Given the description of an element on the screen output the (x, y) to click on. 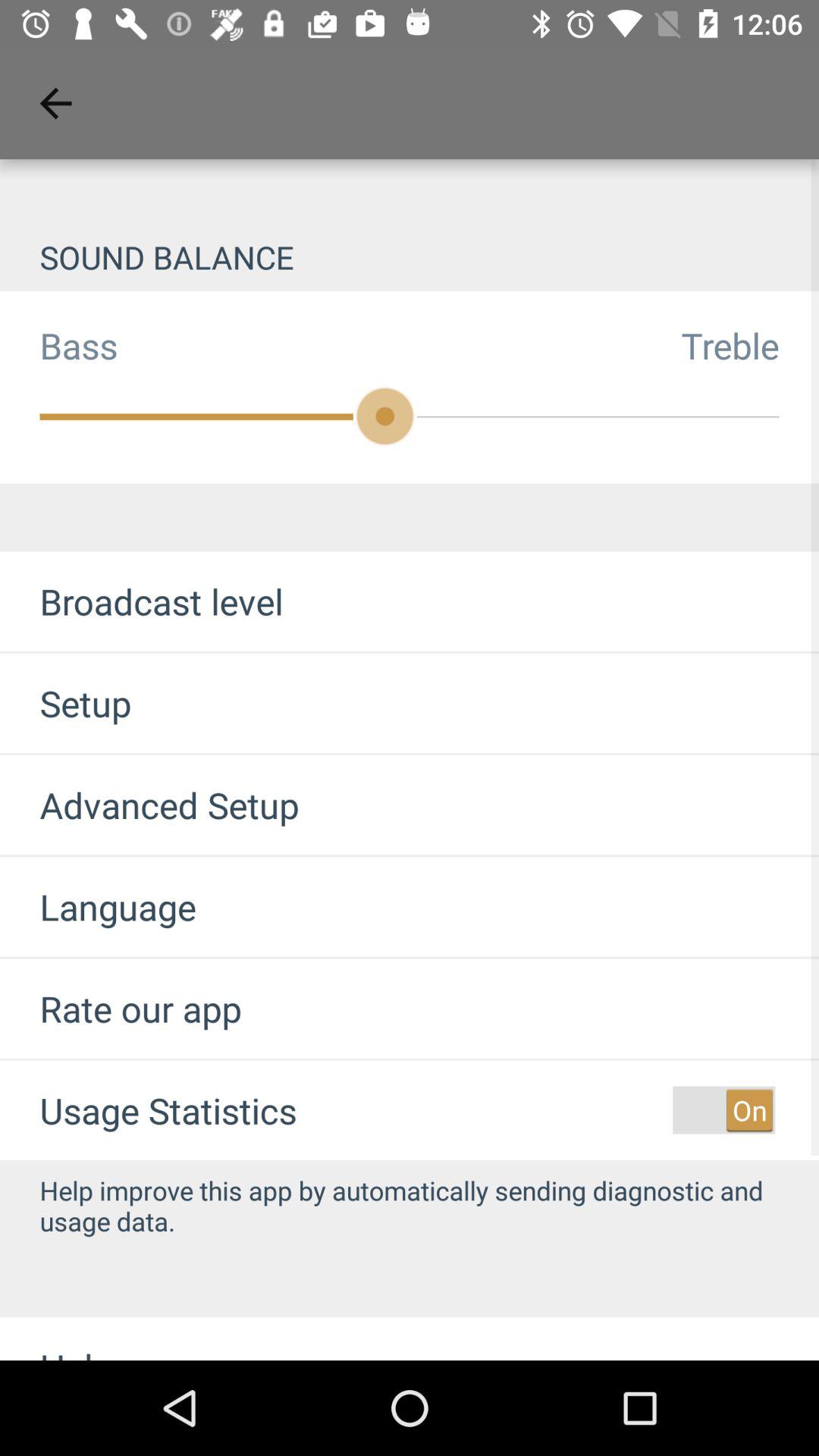
choose treble item (750, 345)
